Given the description of an element on the screen output the (x, y) to click on. 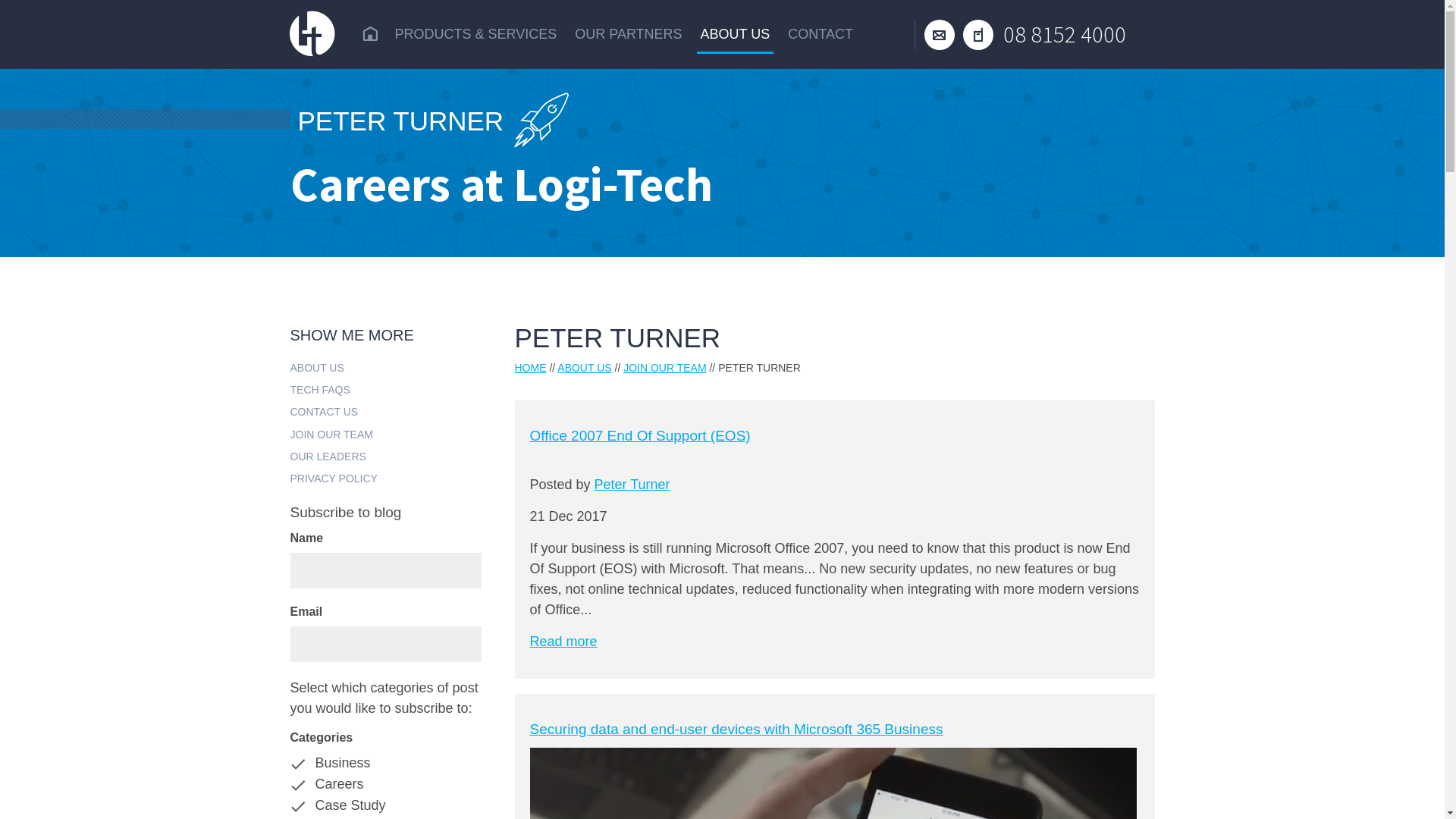
CONTACT Element type: text (820, 34)
Logi-Tech Element type: text (311, 34)
ABOUT US Element type: text (735, 35)
JOIN OUR TEAM Element type: text (384, 433)
PRODUCTS & SERVICES Element type: text (476, 34)
HOME Element type: text (530, 367)
ABOUT US Element type: text (584, 367)
Email us Element type: text (939, 33)
Read more Element type: text (562, 641)
HOME Element type: text (368, 34)
Peter Turner Element type: text (632, 484)
OUR PARTNERS Element type: text (628, 34)
08 8152 4000 Element type: text (1044, 33)
PRIVACY POLICY Element type: text (384, 477)
OUR LEADERS Element type: text (384, 455)
ABOUT US Element type: text (384, 366)
JOIN OUR TEAM Element type: text (664, 367)
TECH FAQS Element type: text (384, 388)
CONTACT US Element type: text (384, 410)
Office 2007 End Of Support (EOS) Element type: text (639, 435)
